Given the description of an element on the screen output the (x, y) to click on. 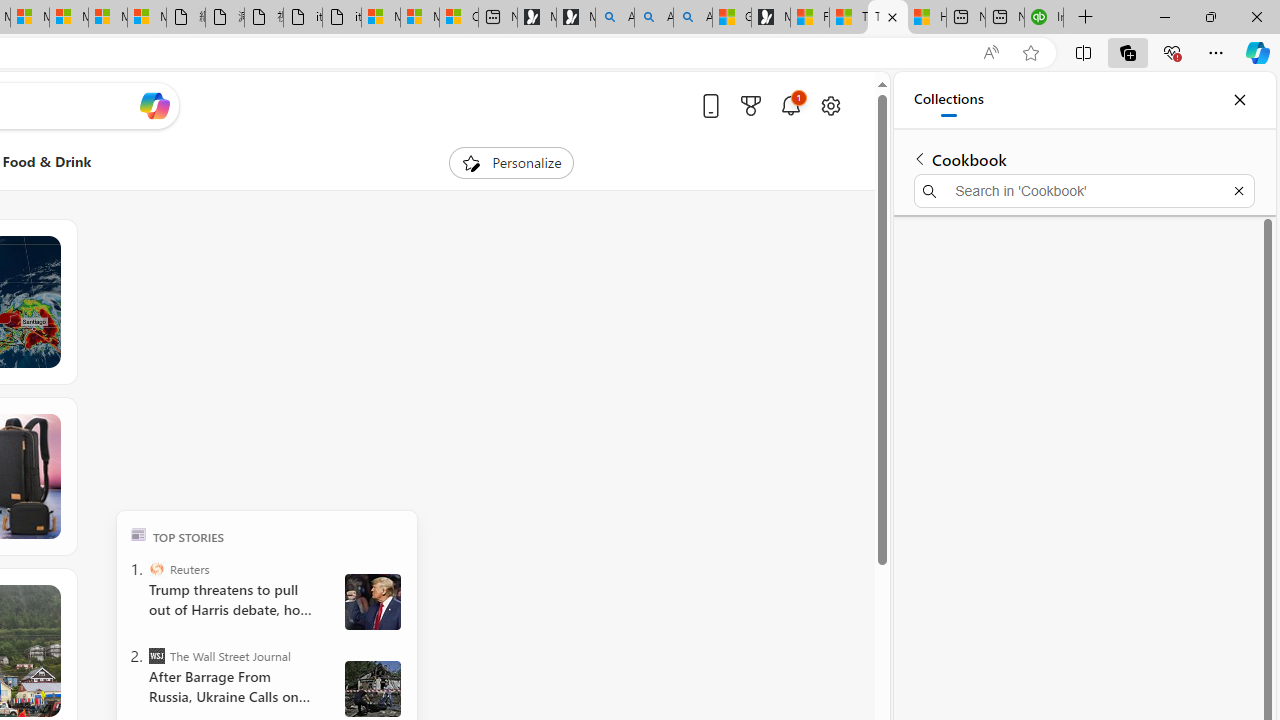
Back to list of collections (920, 158)
Food and Drink - MSN (810, 17)
Reuters (156, 568)
Search in 'Cookbook' (1084, 190)
How to Use a TV as a Computer Monitor (926, 17)
